Given the description of an element on the screen output the (x, y) to click on. 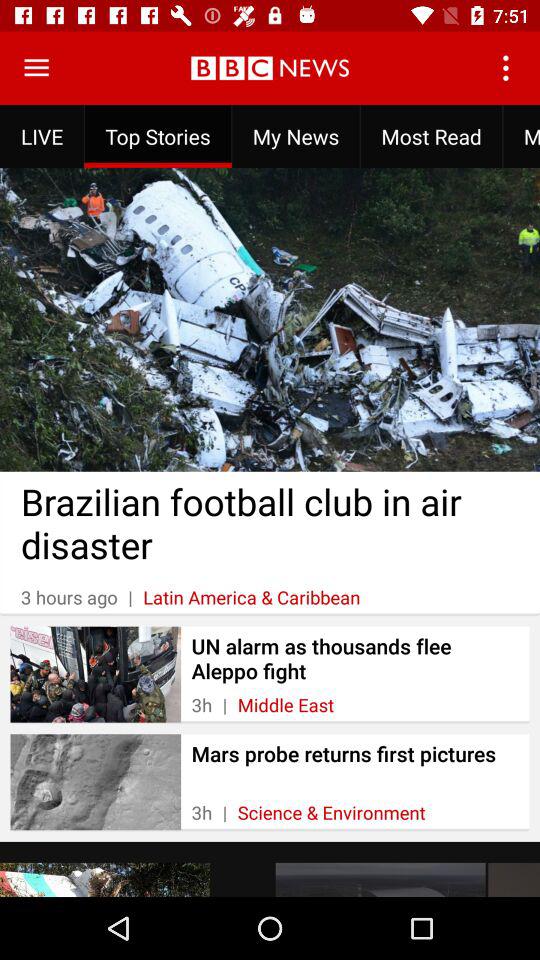
click the item to the right of my news item (508, 67)
